Given the description of an element on the screen output the (x, y) to click on. 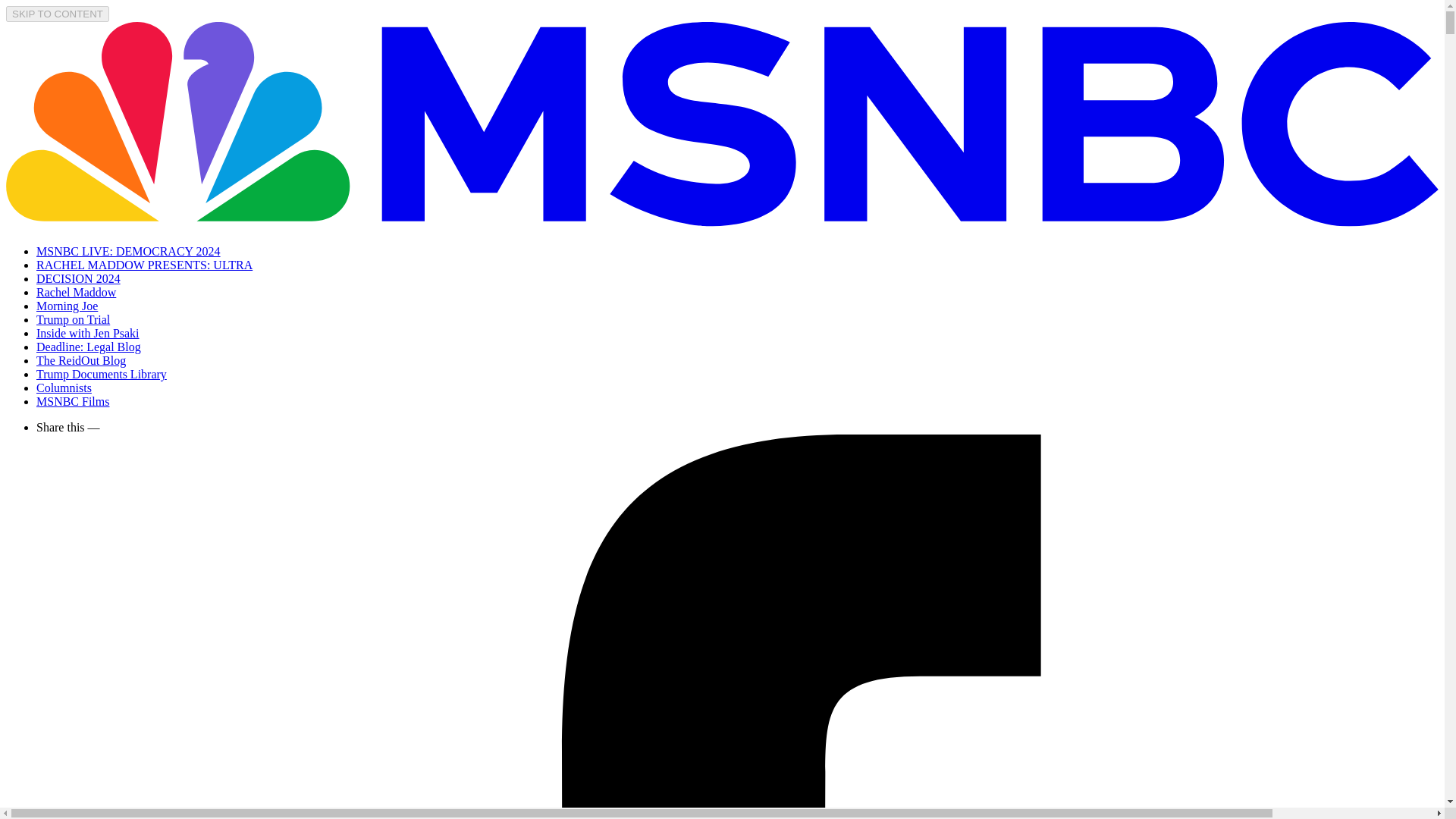
Trump on Trial (73, 318)
MSNBC LIVE: DEMOCRACY 2024 (128, 250)
DECISION 2024 (78, 278)
RACHEL MADDOW PRESENTS: ULTRA (143, 264)
Trump Documents Library (101, 373)
Deadline: Legal Blog (88, 346)
Inside with Jen Psaki (87, 332)
Rachel Maddow (76, 291)
